Given the description of an element on the screen output the (x, y) to click on. 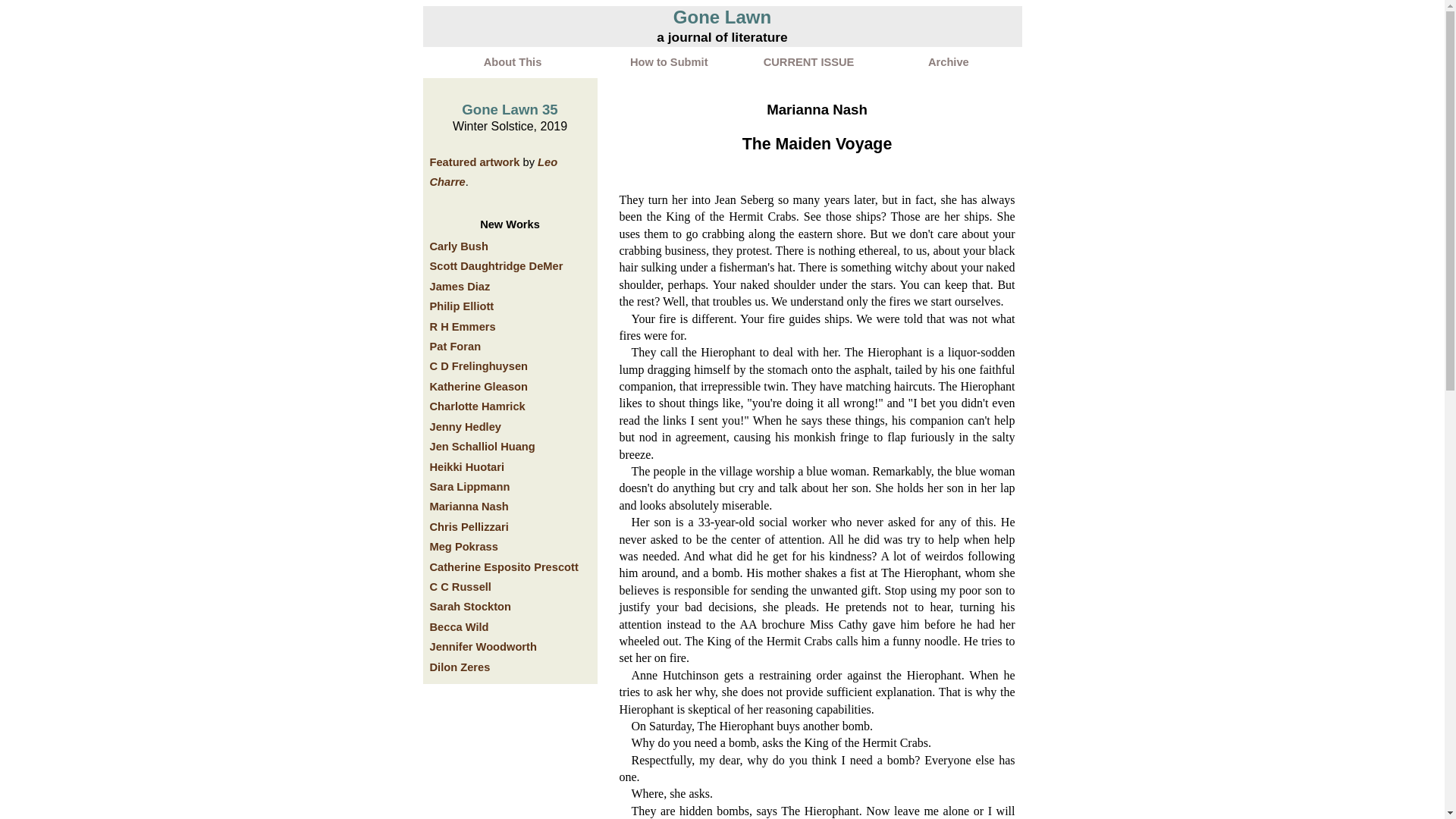
C C Russell (459, 586)
Scott Daughtridge DeMer (495, 265)
Marianna Nash (468, 506)
Sara Lippmann (469, 486)
James Diaz (459, 286)
Dilon Zeres (459, 666)
Archive (947, 62)
Jennifer Woodworth (482, 646)
About This (512, 62)
Pat Foran (454, 346)
Carly Bush (458, 246)
How to Submit (669, 62)
Sarah Stockton (470, 606)
Jenny Hedley (464, 426)
Philip Elliott (461, 306)
